Given the description of an element on the screen output the (x, y) to click on. 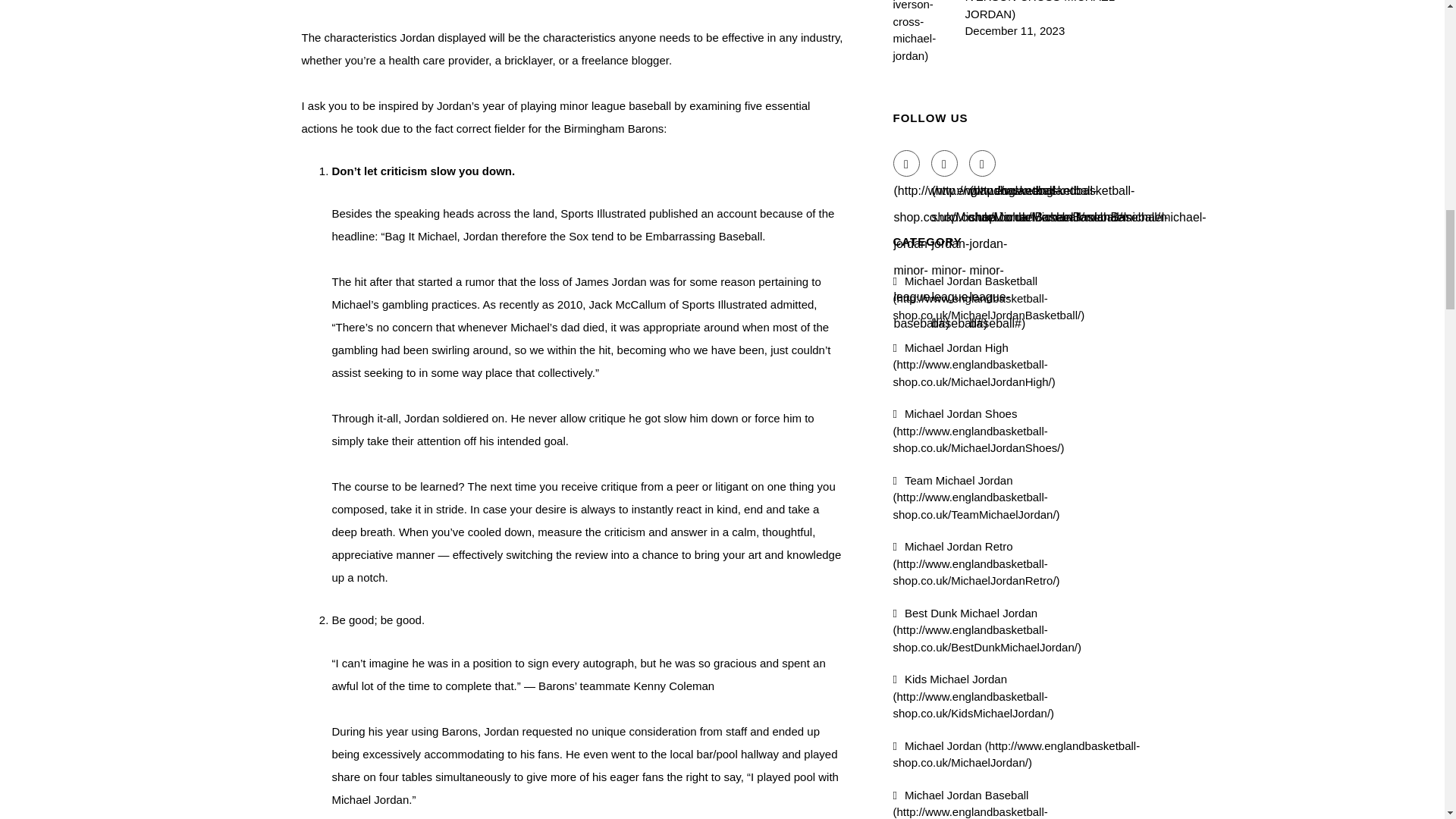
Facebook (906, 162)
View all posts filed under Team Michael Jordan (976, 496)
View all posts filed under Michael Jordan High (974, 364)
Google Plus (982, 162)
View all posts filed under Best Dunk Michael Jordan (987, 629)
View all posts filed under Michael Jordan Retro (976, 563)
View all posts filed under Michael Jordan Shoes (978, 430)
View all posts filed under Michael Jordan Basketball (988, 297)
Twitter (944, 162)
